Given the description of an element on the screen output the (x, y) to click on. 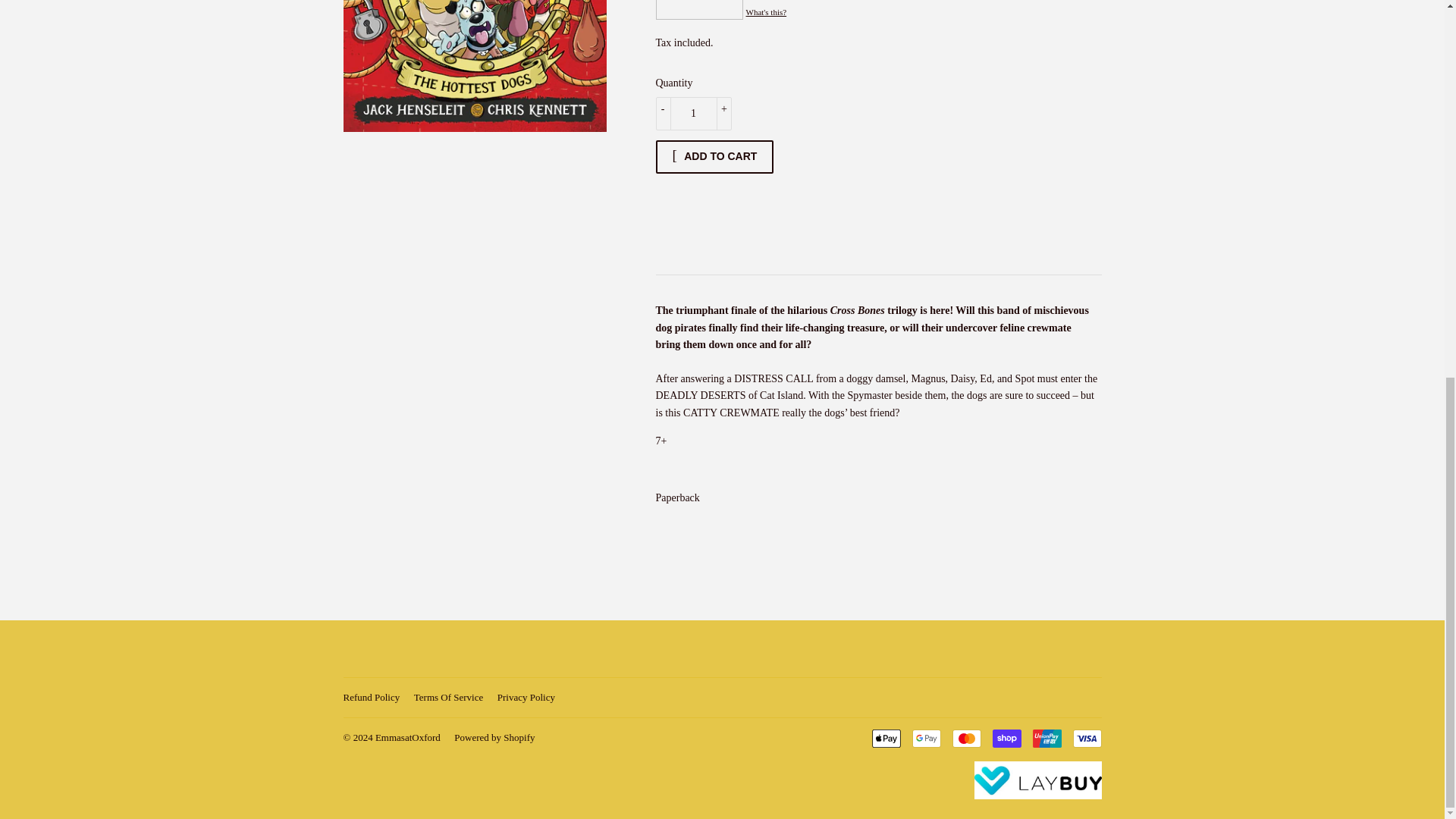
Visa (1085, 738)
1 (692, 113)
Union Pay (1046, 738)
Apple Pay (886, 738)
Mastercard (966, 738)
Shop Pay (1005, 738)
Google Pay (925, 738)
